Given the description of an element on the screen output the (x, y) to click on. 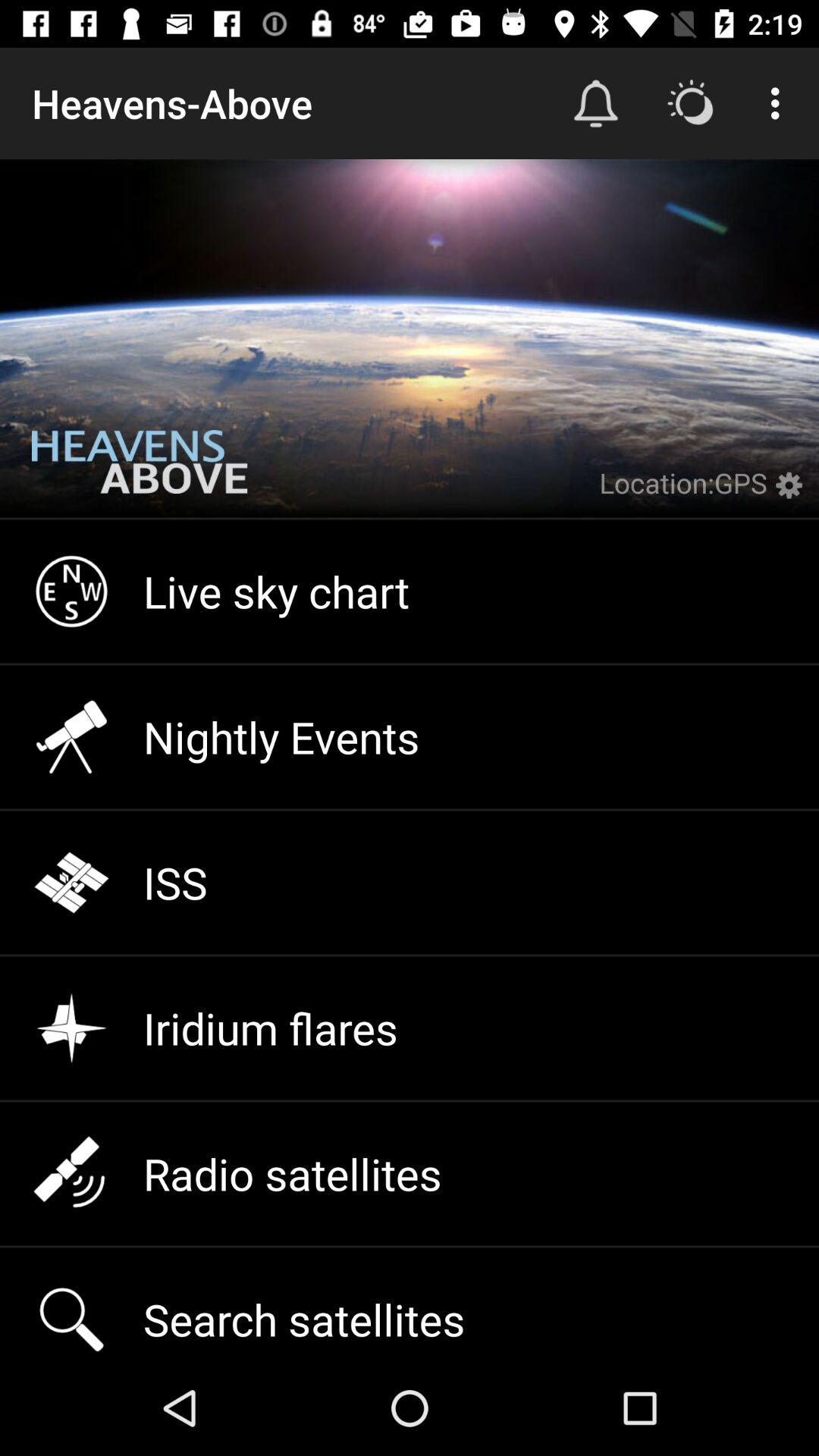
open options (793, 494)
